Given the description of an element on the screen output the (x, y) to click on. 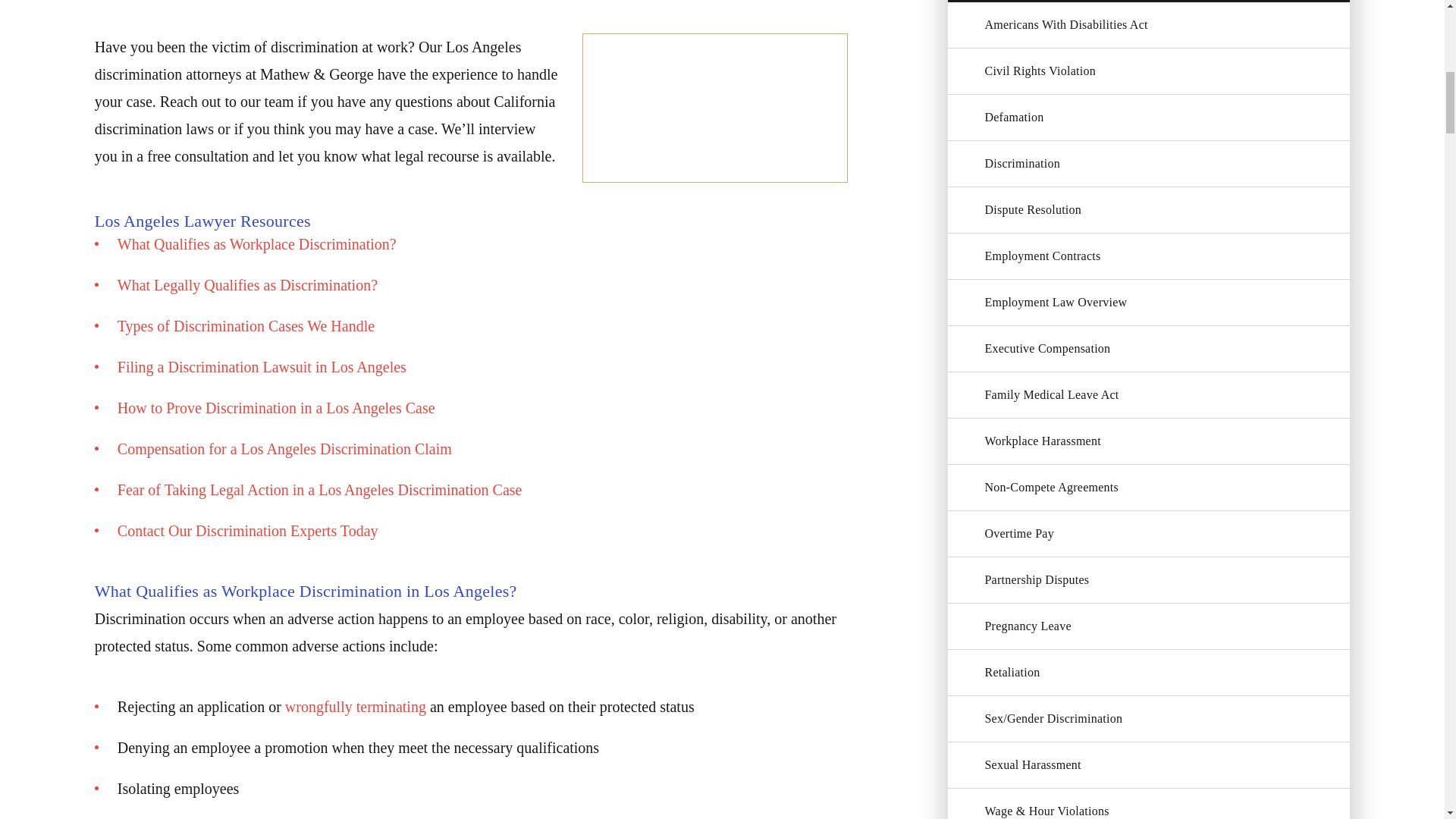
What Legally Qualifies as Discrimination? (247, 285)
How to Prove Discrimination in a Los Angeles Case (276, 408)
Filing a Discrimination Lawsuit in Los Angeles (261, 367)
What Qualifies as Workplace Discrimination? (256, 244)
Contact Our Discrimination Experts Today (247, 531)
Compensation for a Los Angeles Discrimination Claim (284, 449)
wrongfully terminating (355, 707)
Types of Discrimination Cases We Handle (245, 326)
